Given the description of an element on the screen output the (x, y) to click on. 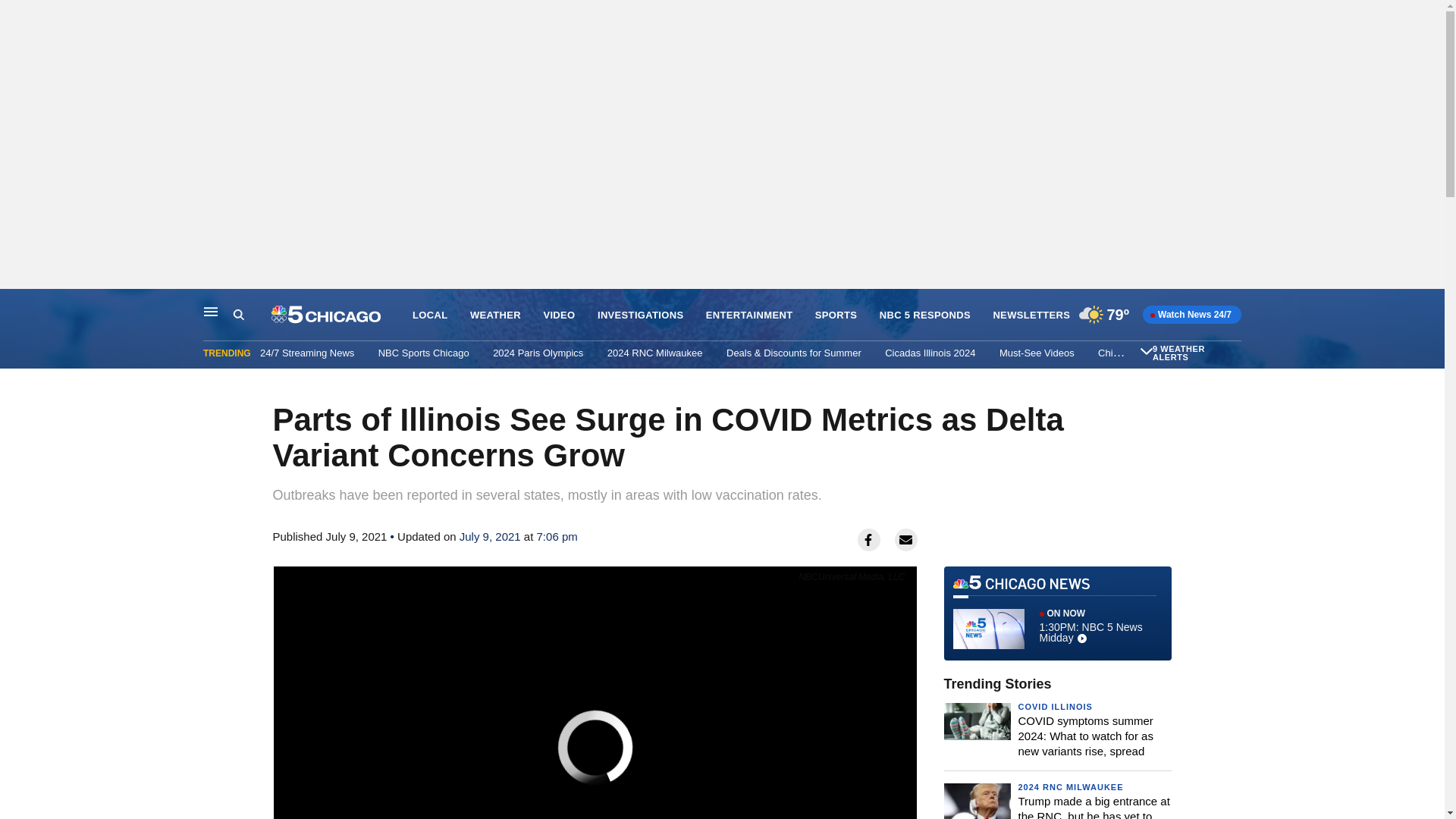
ENTERTAINMENT (749, 315)
Expand (1146, 350)
WEATHER (495, 315)
VIDEO (559, 315)
Main Navigation (210, 311)
Search (238, 314)
INVESTIGATIONS (639, 315)
Must-See Videos (1036, 352)
2024 RNC Milwaukee (655, 352)
NEWSLETTERS (1031, 315)
9 WEATHER ALERTS (1195, 352)
Chicago Today (1130, 352)
2024 Paris Olympics (538, 352)
NBC Sports Chicago (423, 352)
LOCAL (429, 315)
